Given the description of an element on the screen output the (x, y) to click on. 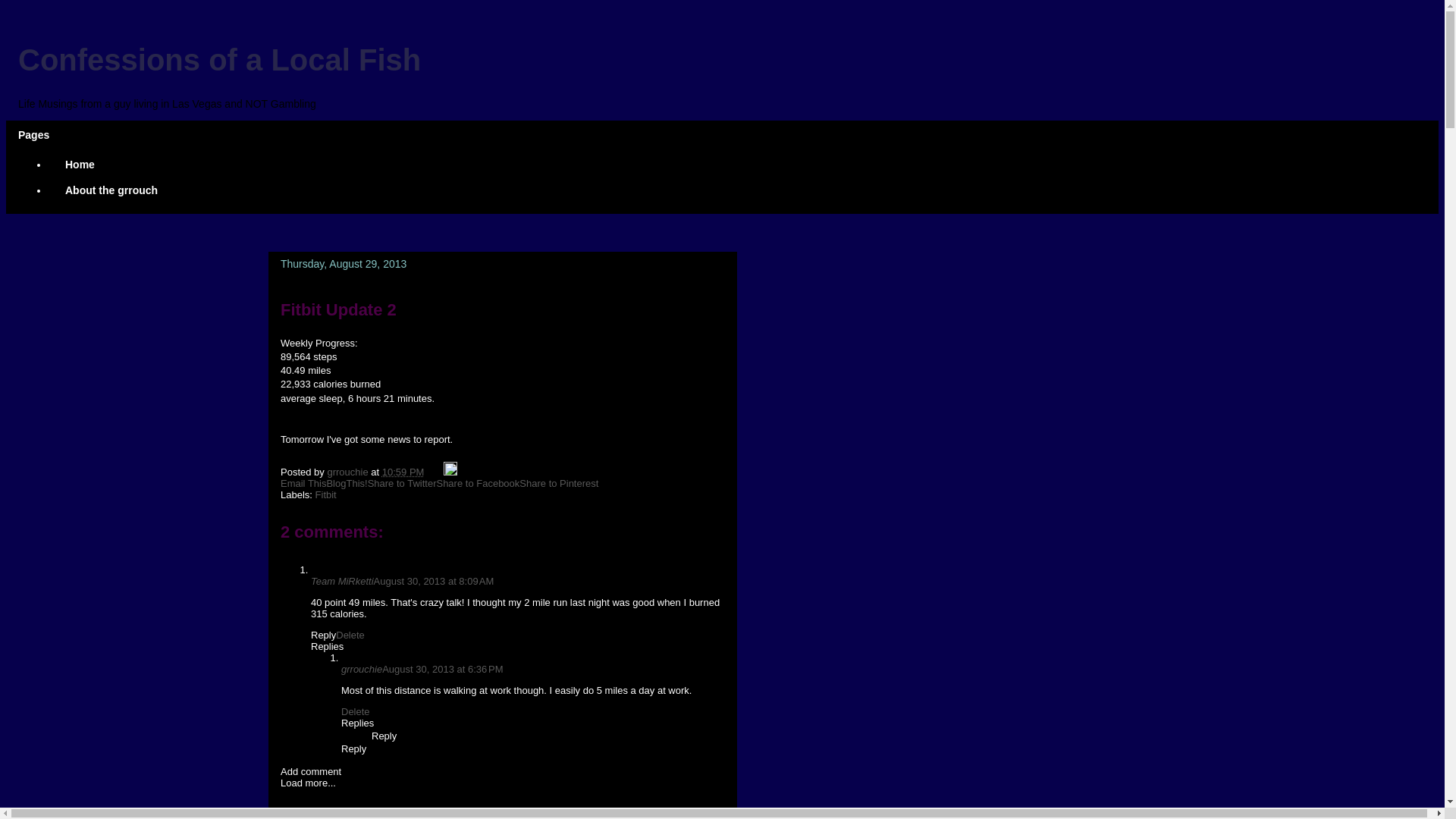
grrouchie (348, 471)
Team MiRketti (342, 581)
Reply (323, 634)
Delete (354, 711)
Email Post (435, 471)
grrouchie (360, 668)
About the grrouch (111, 190)
Email This (303, 482)
Reply (353, 748)
Confessions of a Local Fish (218, 59)
Add comment (310, 771)
Load more... (308, 782)
Share to Pinterest (558, 482)
